Given the description of an element on the screen output the (x, y) to click on. 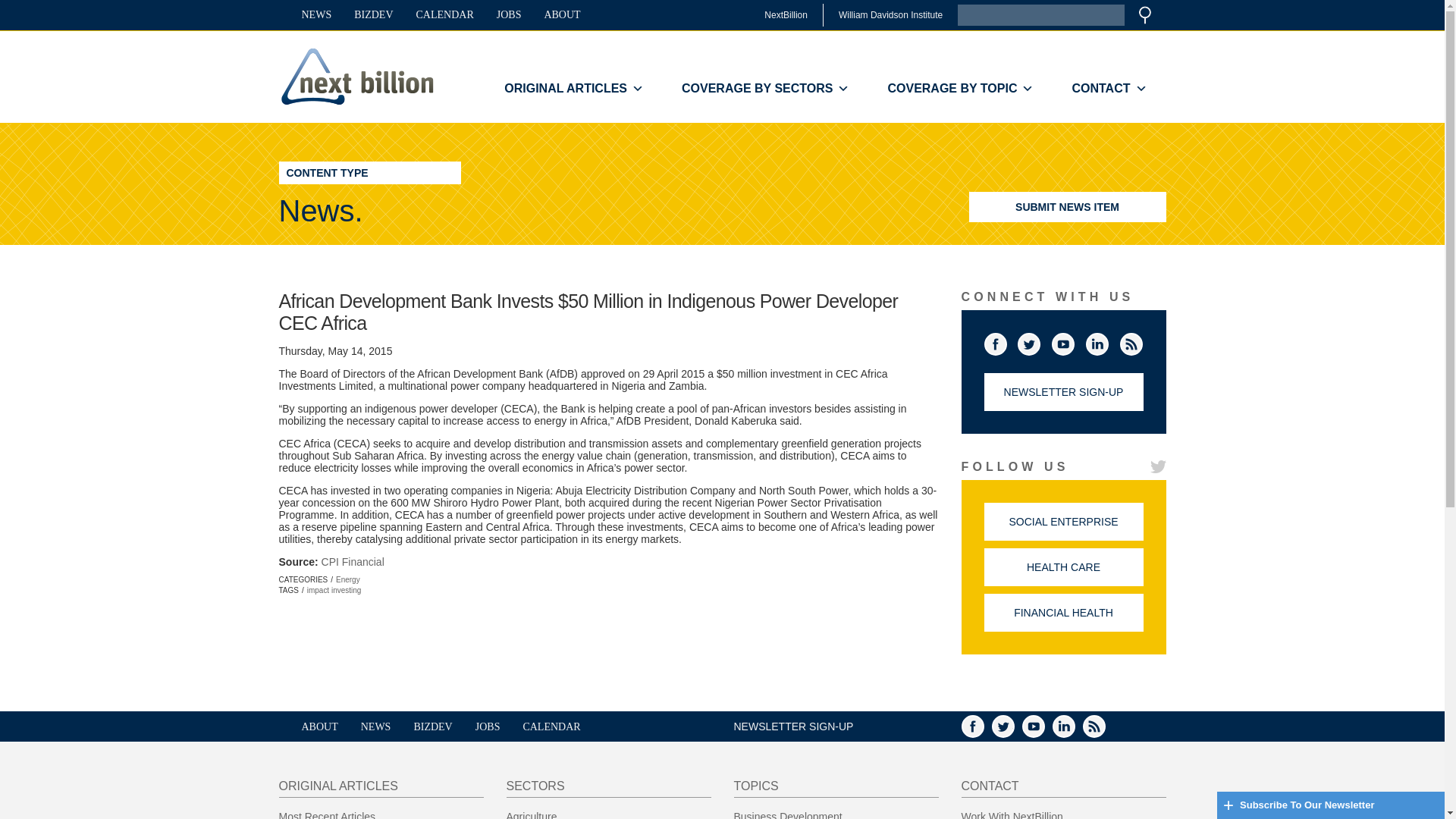
COVERAGE BY SECTORS (764, 88)
COVERAGE BY TOPIC (959, 88)
ORIGINAL ARTICLES (573, 88)
